Given the description of an element on the screen output the (x, y) to click on. 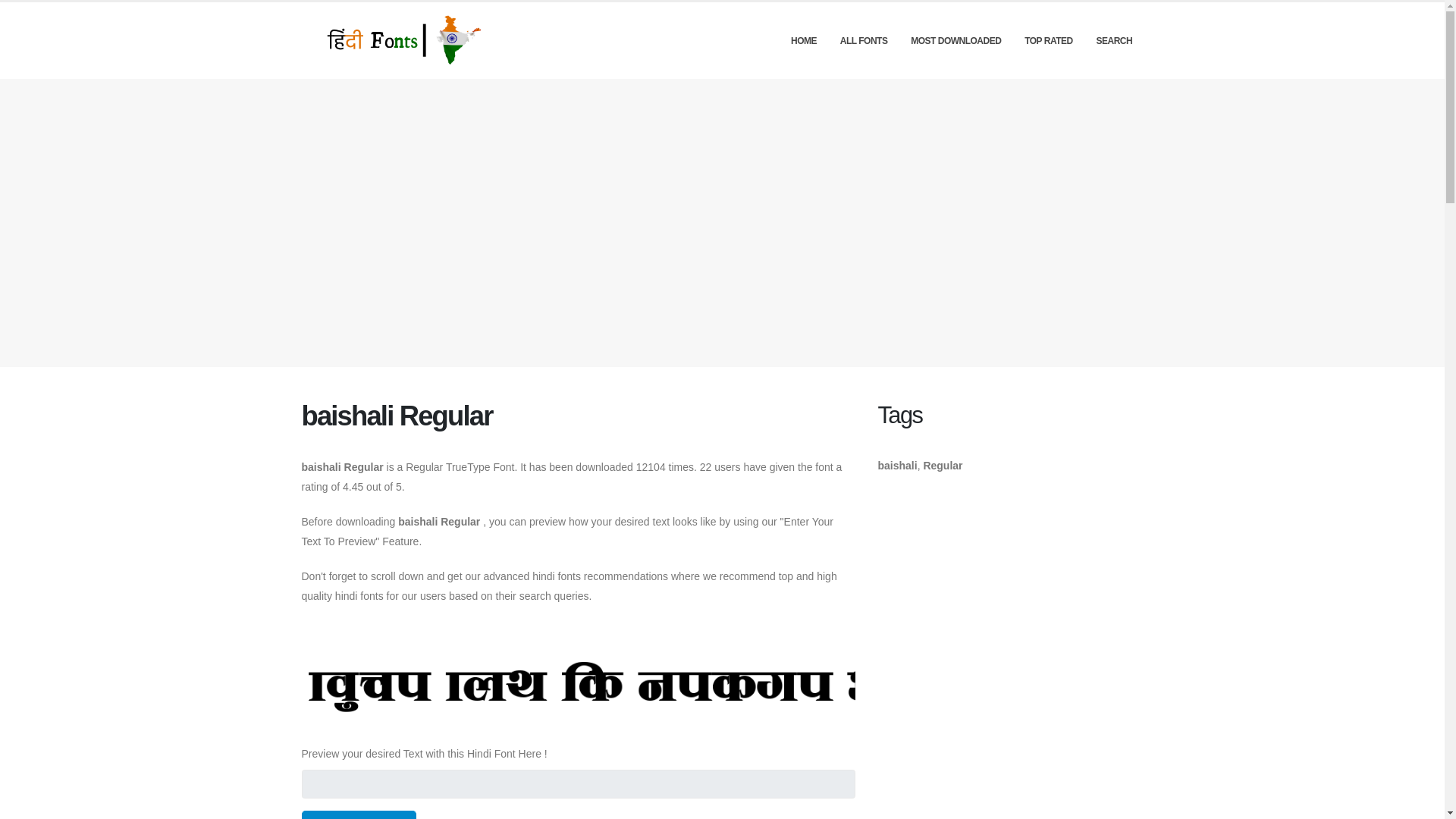
Download Font (358, 814)
TOP RATED (1048, 40)
Submit (22, 12)
Advertisement (1009, 760)
MOST DOWNLOADED (955, 40)
Advertisement (1009, 596)
ALL FONTS (863, 40)
